Given the description of an element on the screen output the (x, y) to click on. 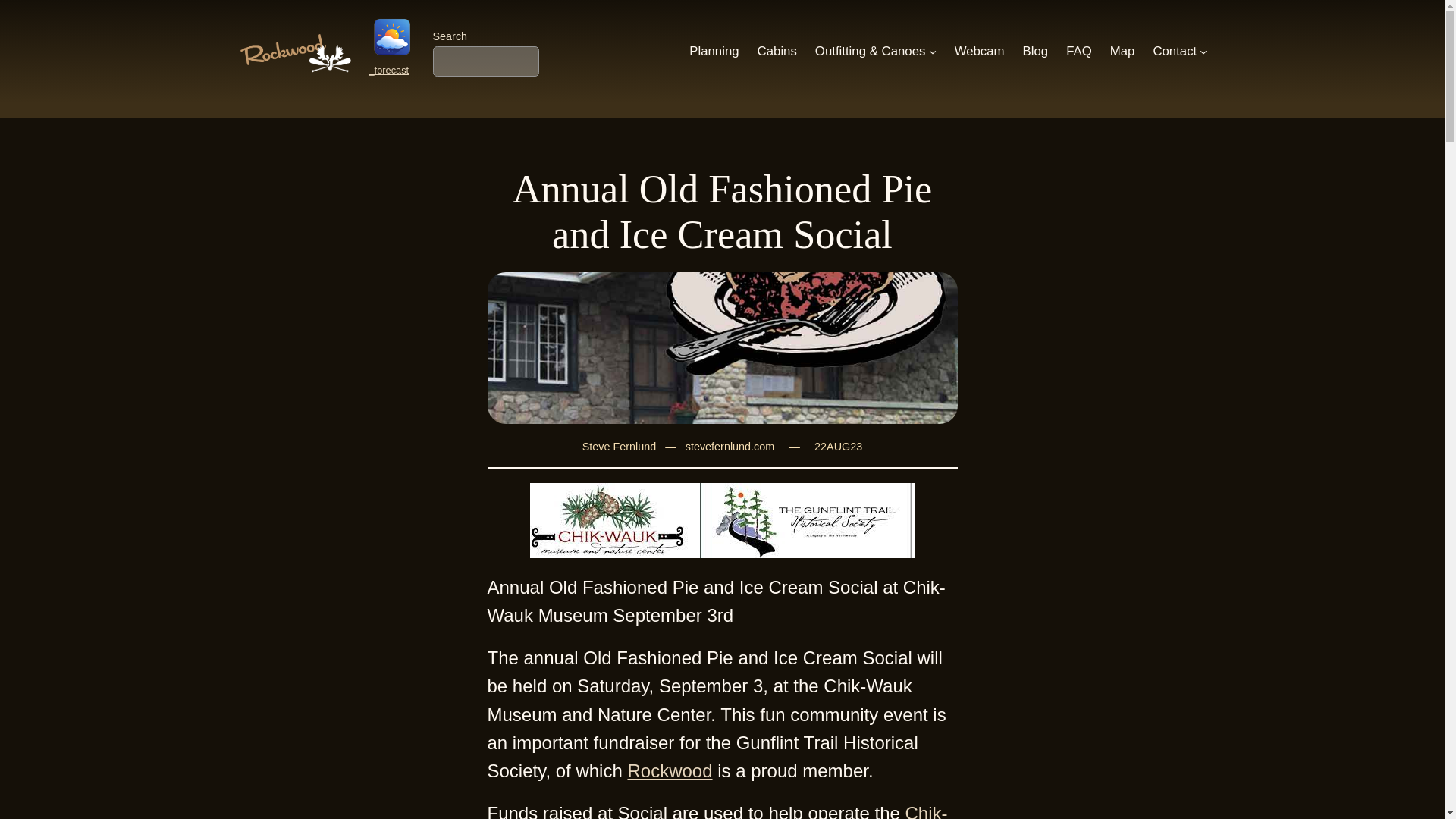
Cabins (776, 51)
Contact (1174, 51)
Planning (713, 51)
Webcam (979, 51)
Steve Fernlund (619, 446)
stevefernlund.com (729, 446)
Chik-Wauk Museum (716, 811)
Blog (1035, 51)
FAQ (1078, 51)
Trip Planning (713, 51)
Map (1122, 51)
News and information on Rockwood Lodge (1035, 51)
Rockwood (669, 770)
Canoes for wilderness trips (870, 51)
News and information on Rockwood Lodge (979, 51)
